Given the description of an element on the screen output the (x, y) to click on. 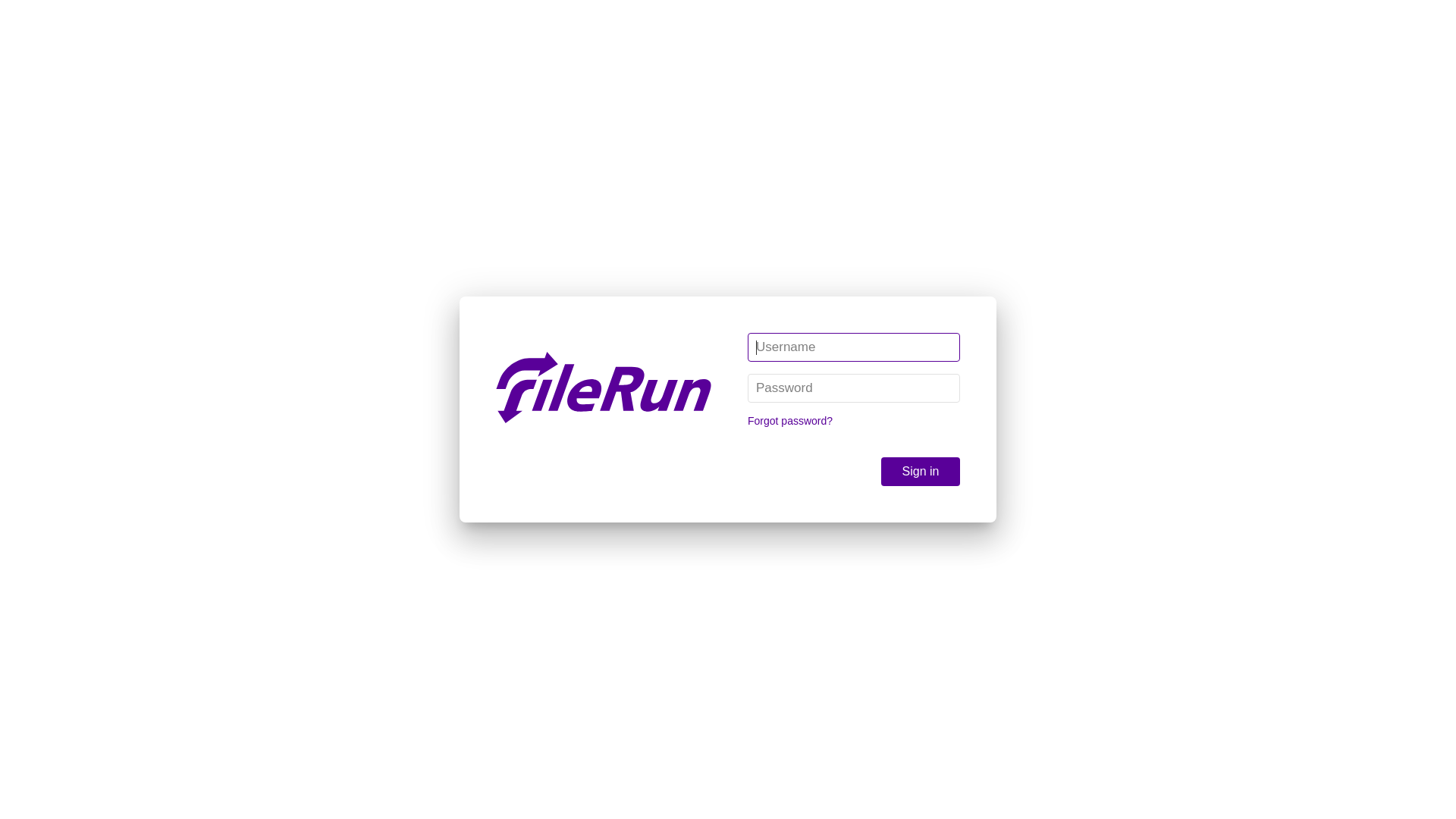
Forgot password? Element type: text (789, 420)
